Given the description of an element on the screen output the (x, y) to click on. 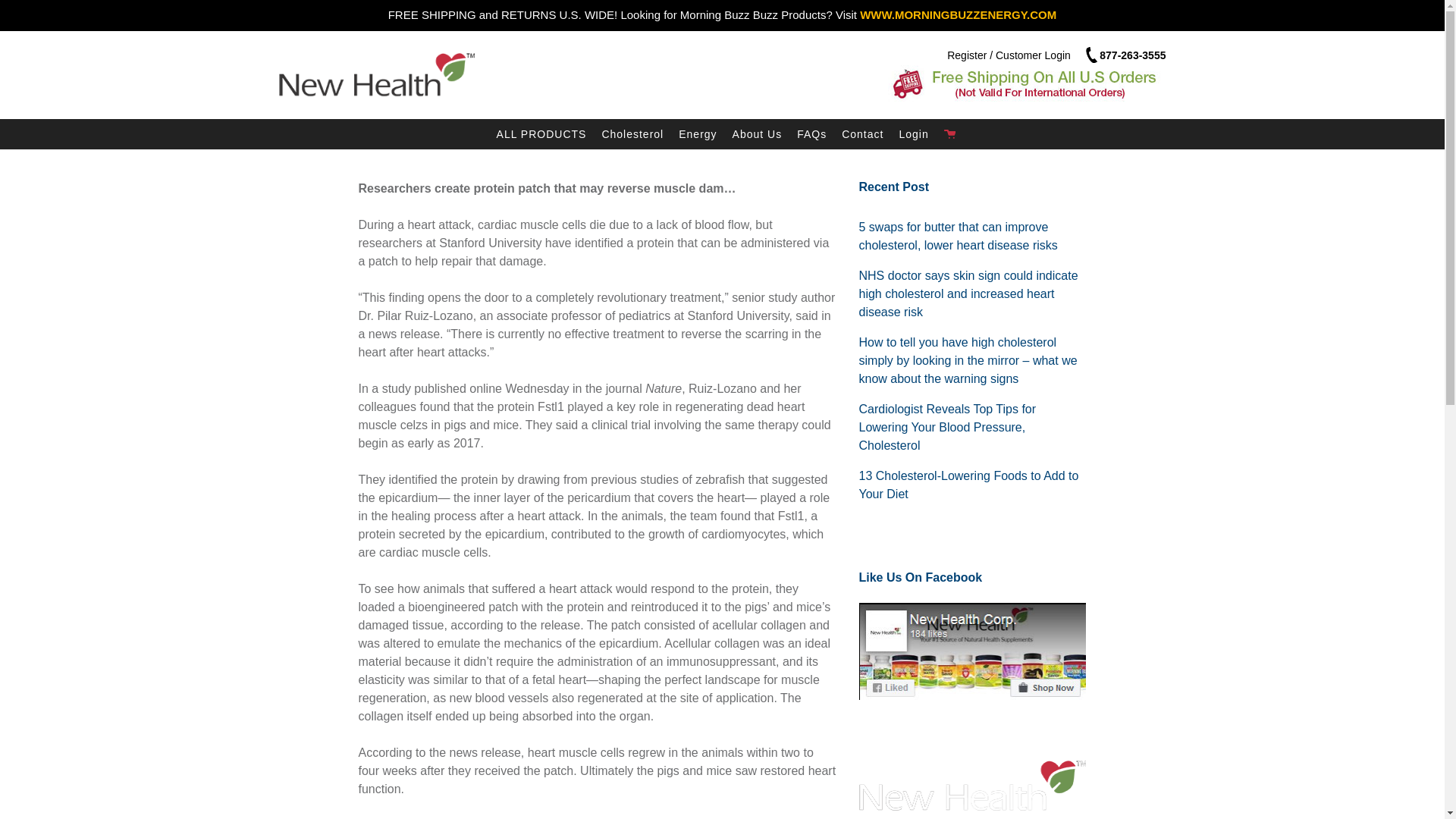
WWW.MORNINGBUZZENERGY.COM (958, 14)
Login (913, 133)
13 Cholesterol-Lowering Foods to Add to Your Diet (968, 484)
About Us (757, 133)
Cholesterol (632, 133)
ALL PRODUCTS (541, 133)
Energy (697, 133)
877-263-3555 (1123, 54)
Return to homepage (419, 74)
FAQs (811, 133)
Contact (862, 133)
